Given the description of an element on the screen output the (x, y) to click on. 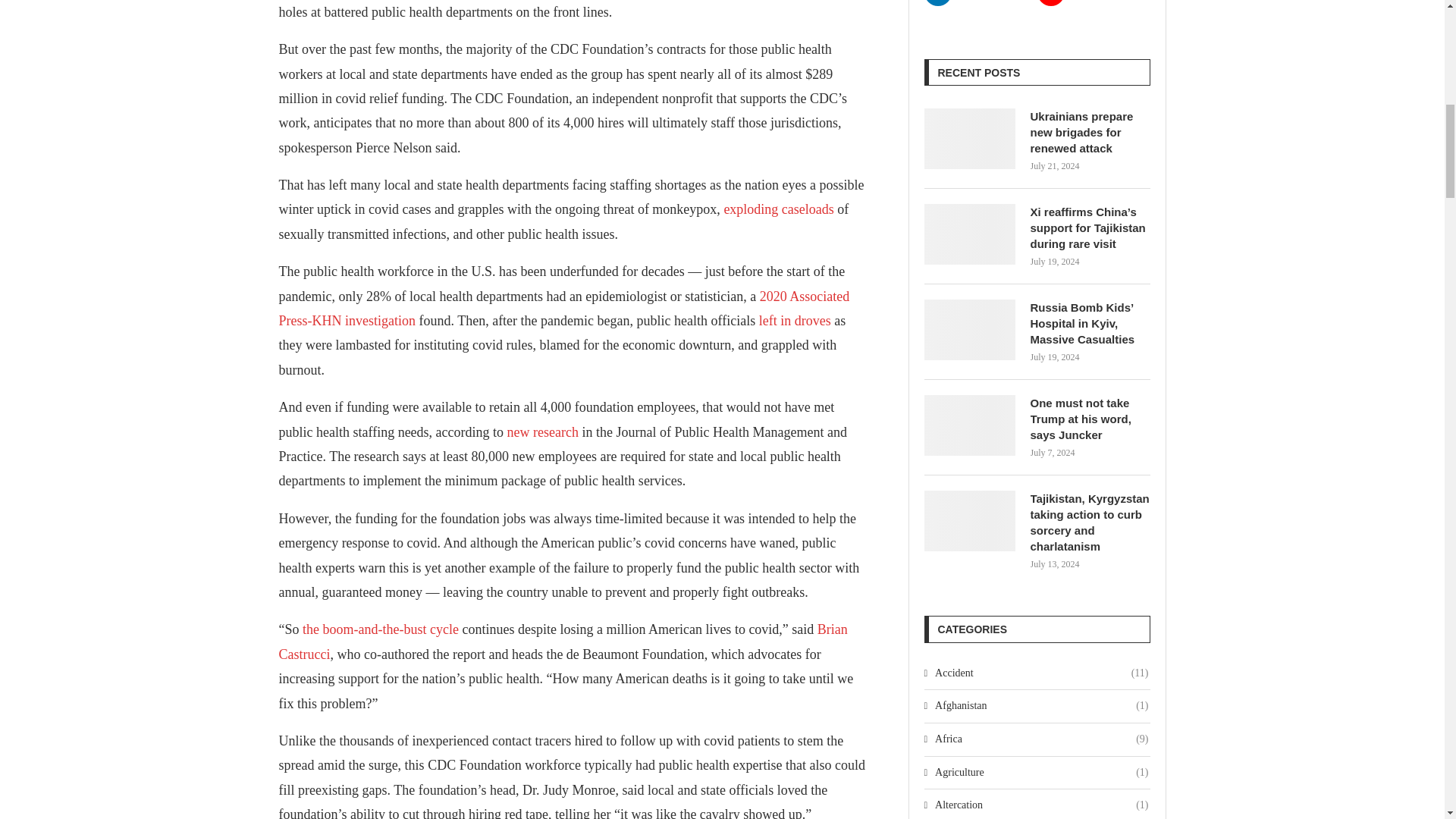
Ukrainians prepare new brigades for renewed attack (1089, 132)
One must not take Trump at his word, says Juncker (968, 424)
Ukrainians prepare new brigades for renewed attack (968, 138)
